Given the description of an element on the screen output the (x, y) to click on. 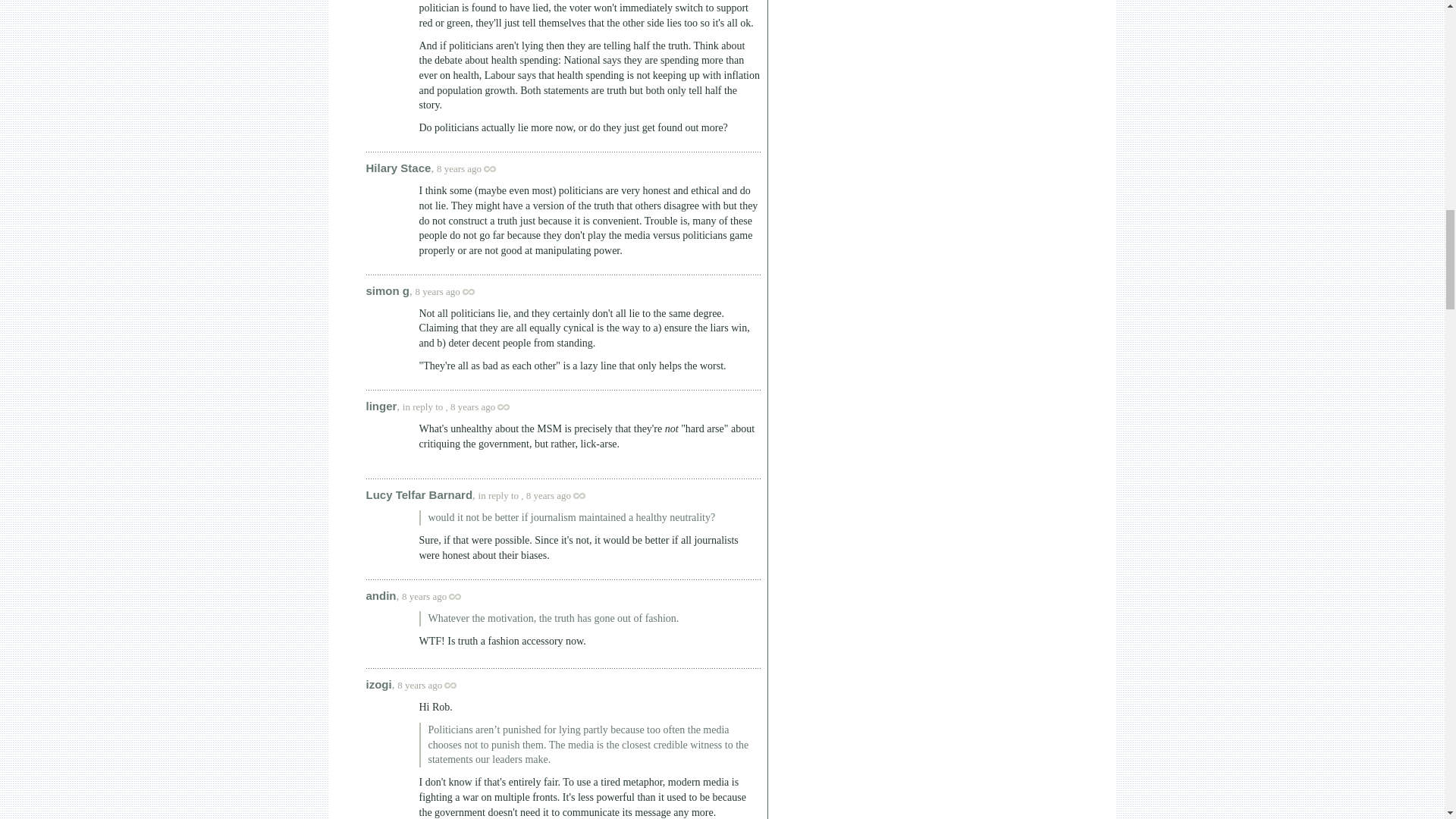
8 years ago (473, 168)
14:41 Jul 5, 2016 (458, 168)
15:15 Jul 5, 2016 (423, 595)
8 years ago (438, 595)
8 years ago (486, 406)
andin (380, 594)
simon g (387, 290)
8 years ago (451, 291)
15:14 Jul 5, 2016 (547, 495)
15:11 Jul 5, 2016 (472, 406)
